Given the description of an element on the screen output the (x, y) to click on. 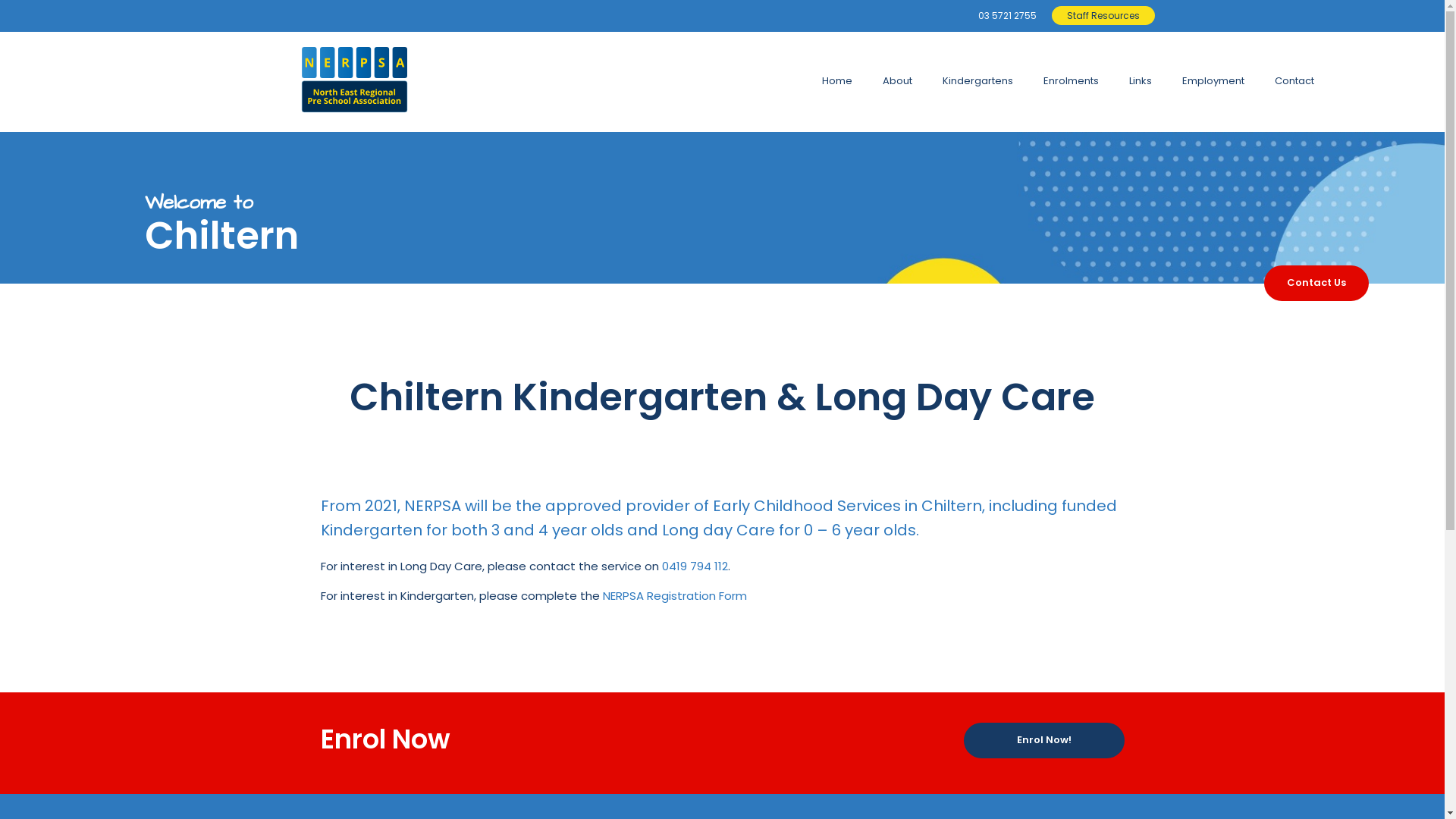
Enrolments Element type: text (1070, 80)
Enrol Now! Element type: text (1043, 740)
NERPSA Registration Form Element type: text (674, 595)
Staff Resources Element type: text (1102, 15)
About Element type: text (897, 80)
Contact Us Element type: text (1316, 283)
Employment Element type: text (1213, 80)
0419 794 112 Element type: text (694, 566)
Home Element type: text (836, 80)
03 5721 2755 Element type: text (1007, 15)
Kindergartens Element type: text (977, 80)
Contact Element type: text (1294, 80)
Links Element type: text (1140, 80)
